Given the description of an element on the screen output the (x, y) to click on. 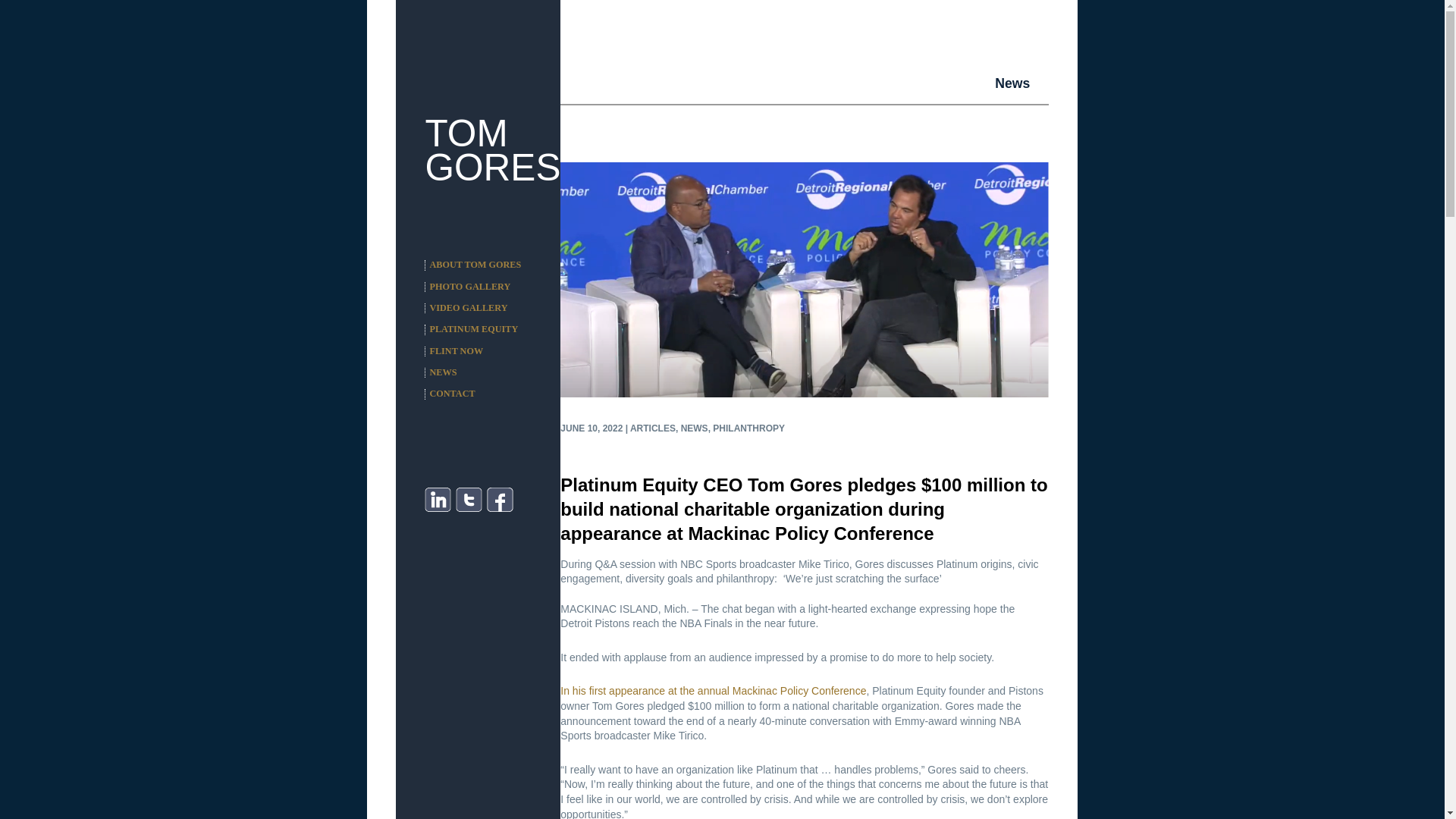
ABOUT TOM GORES (475, 264)
Tom Gores Facebook (499, 500)
VIDEO GALLERY (467, 307)
Tom Gores Linkedin (438, 500)
PLATINUM EQUITY (473, 328)
NEWS (443, 371)
PHOTO GALLERY (470, 286)
FLINT NOW (456, 350)
Tom Gores Twitter (468, 500)
